Given the description of an element on the screen output the (x, y) to click on. 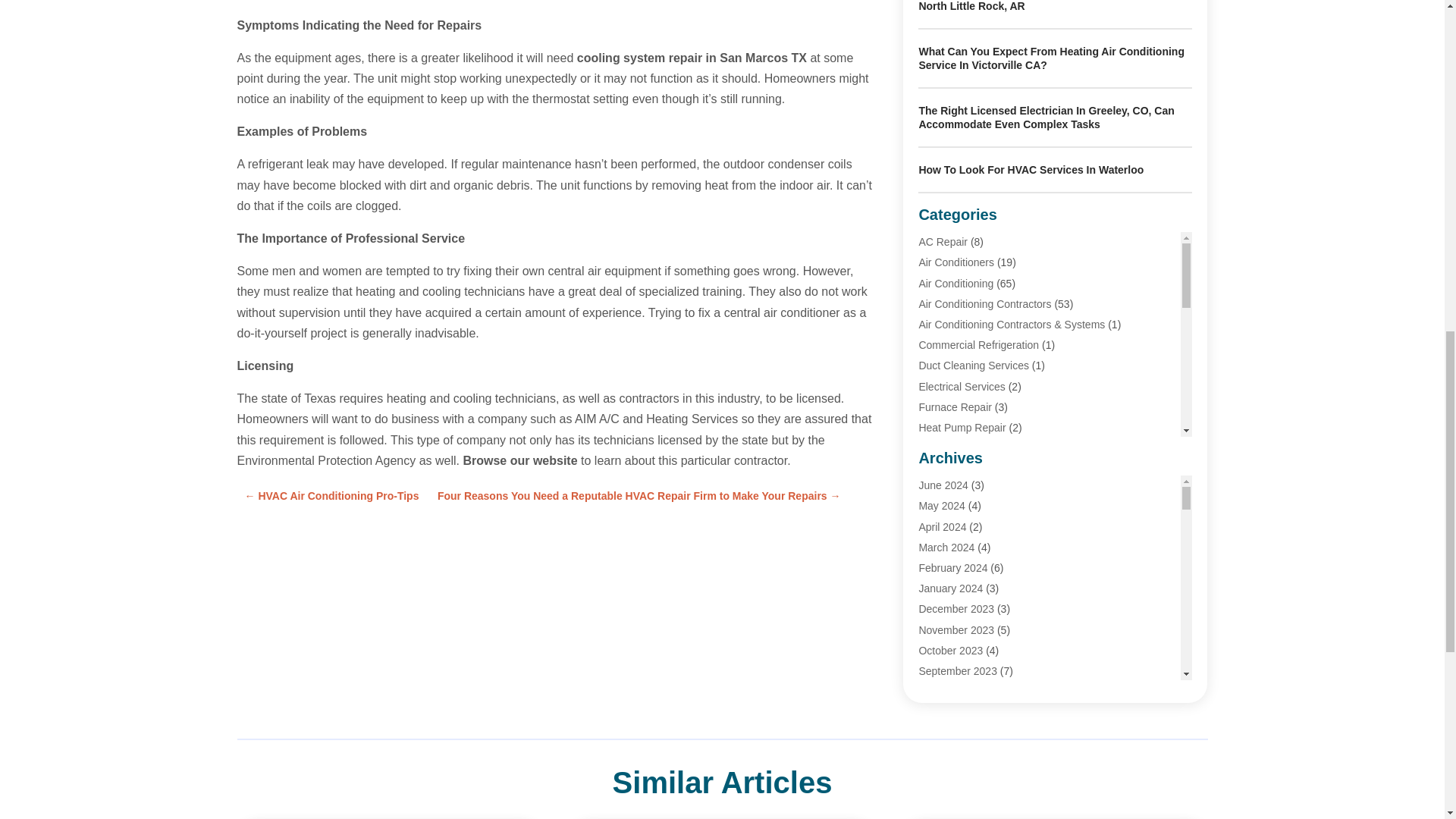
Heating Contractor (962, 530)
Furnace Repair (954, 407)
Heating (936, 448)
Air Conditioning Contractors (984, 304)
Air Conditioning (955, 283)
How To Look For HVAC Services In Waterloo (1030, 169)
Electrical Services (961, 386)
Commercial Refrigeration (978, 345)
